Given the description of an element on the screen output the (x, y) to click on. 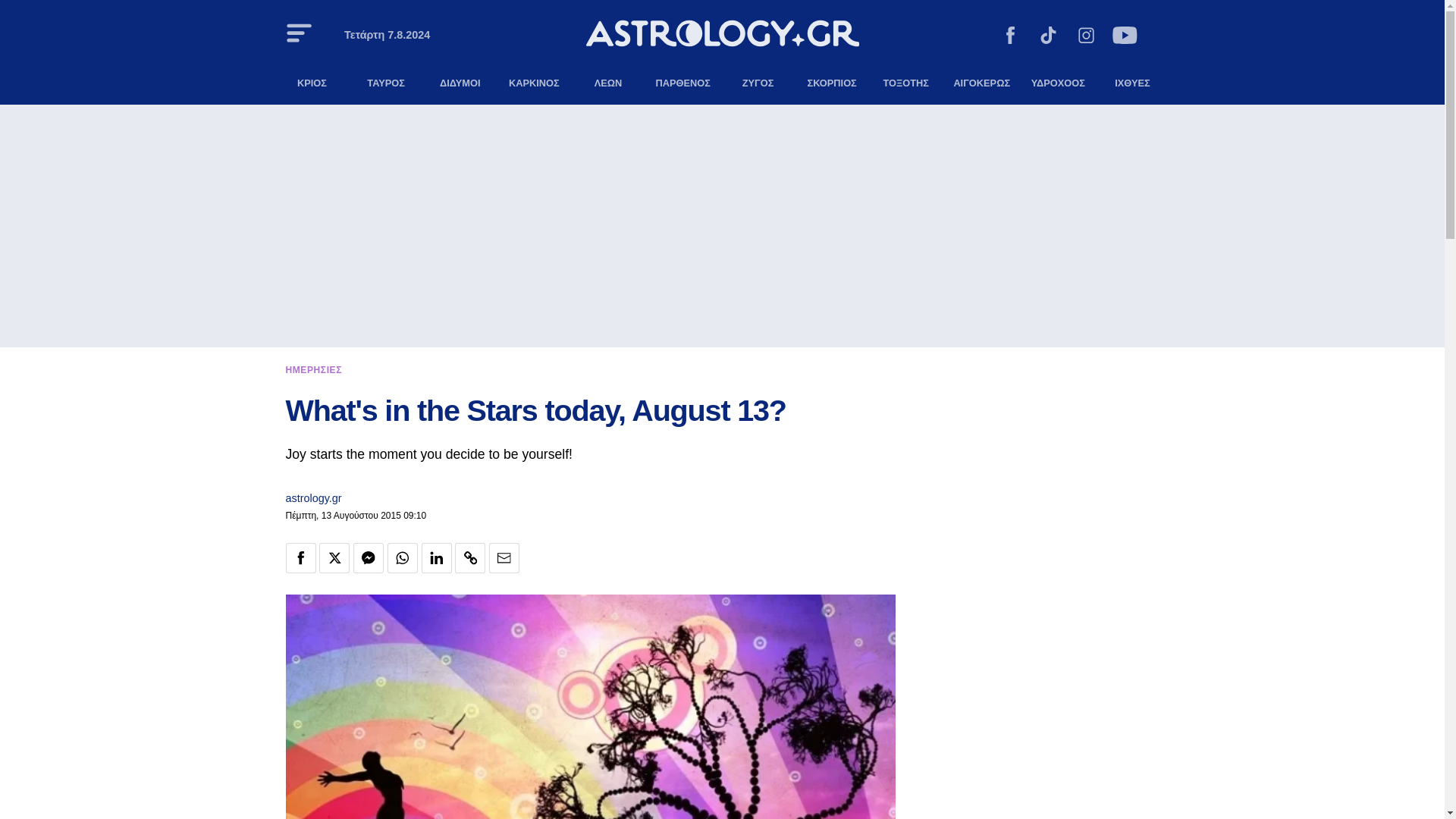
astrology.gr (312, 498)
Astrology.gr (722, 35)
astrology.gr (312, 498)
Facebook (1010, 37)
Tiktok (1048, 37)
